Given the description of an element on the screen output the (x, y) to click on. 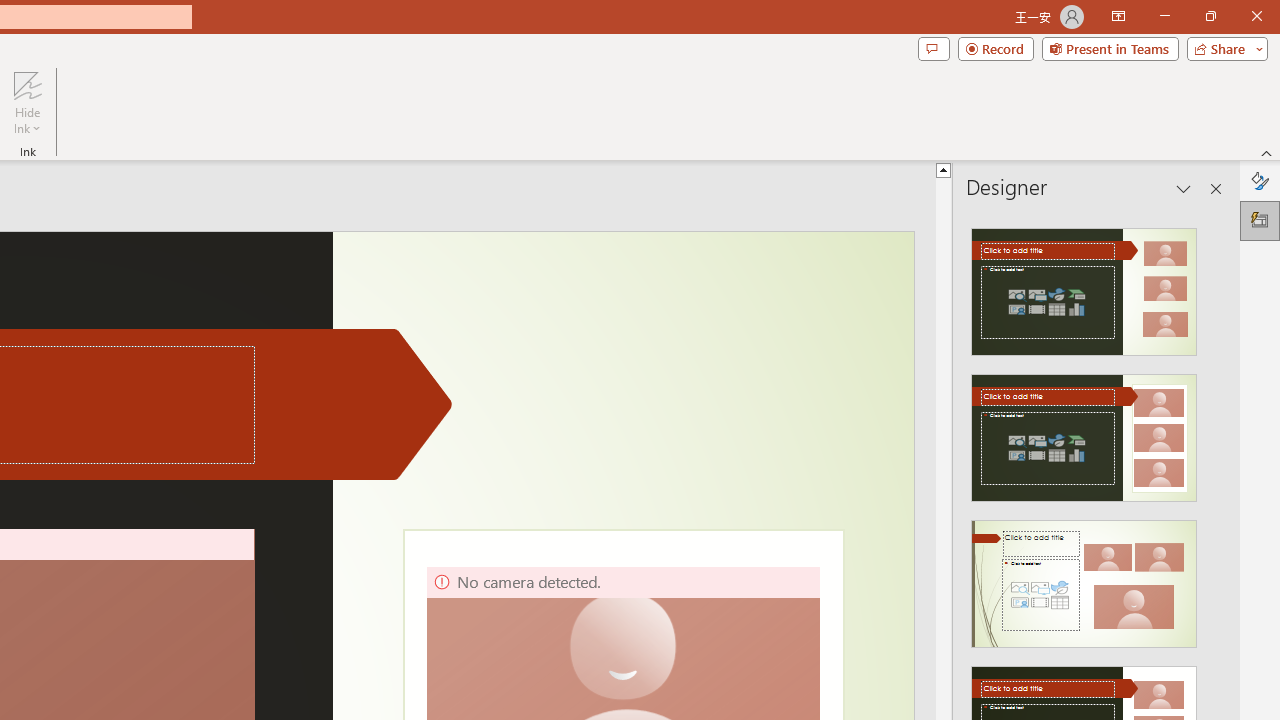
Recommended Design: Design Idea (1083, 286)
